Given the description of an element on the screen output the (x, y) to click on. 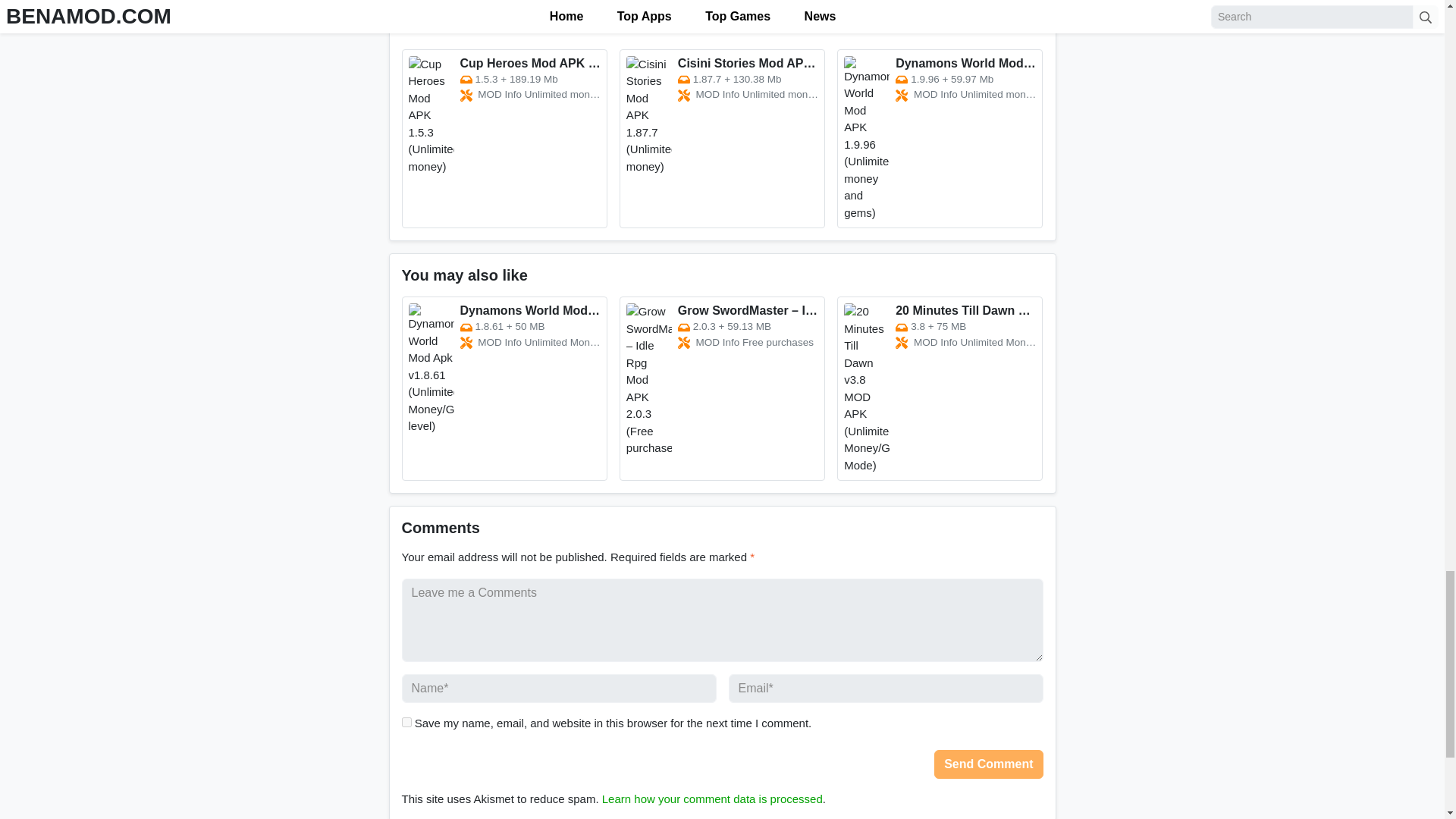
Send Comment (988, 764)
yes (406, 722)
